Given the description of an element on the screen output the (x, y) to click on. 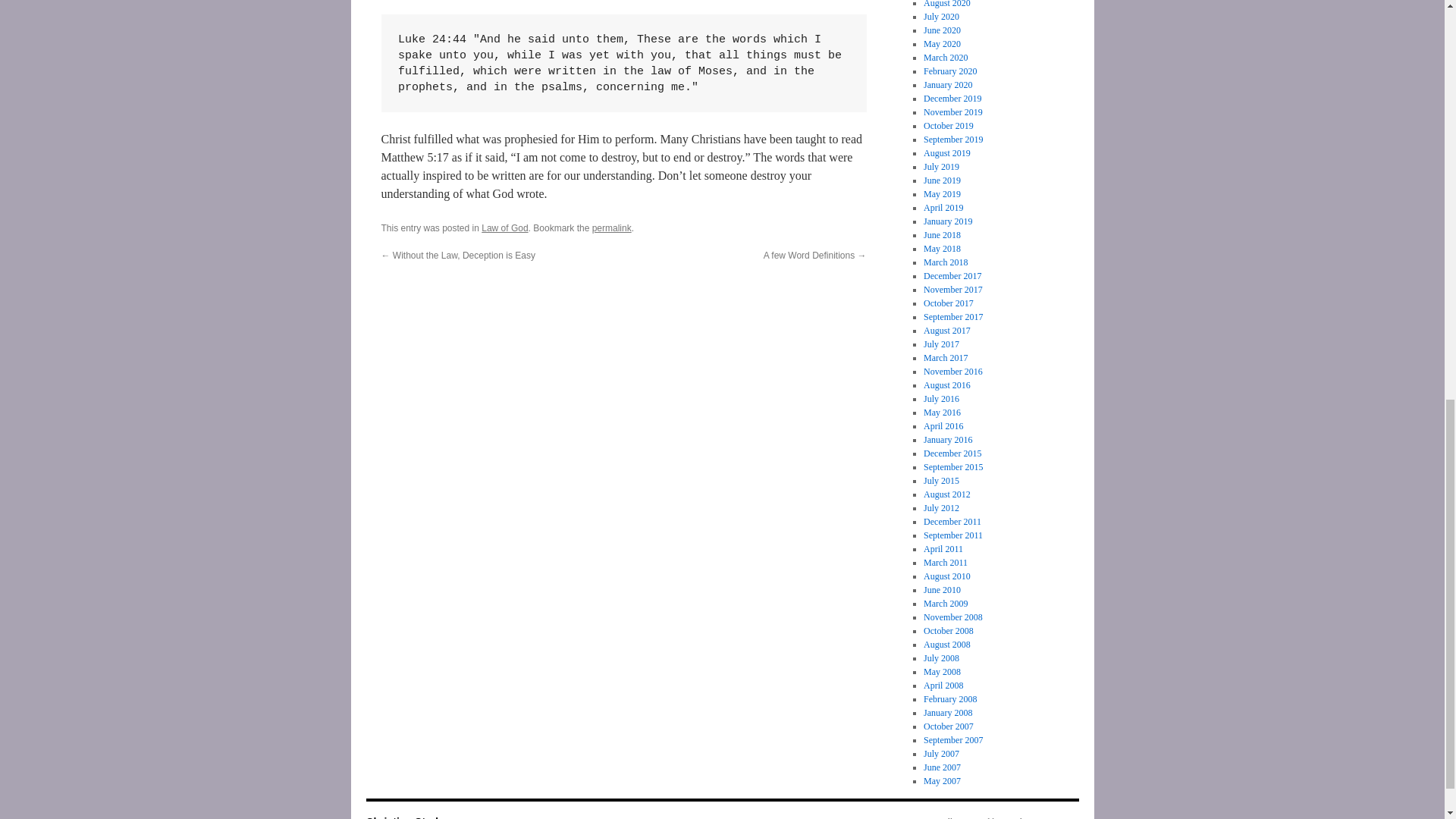
Permalink to Old vs New (611, 227)
Law of God (504, 227)
permalink (611, 227)
